Given the description of an element on the screen output the (x, y) to click on. 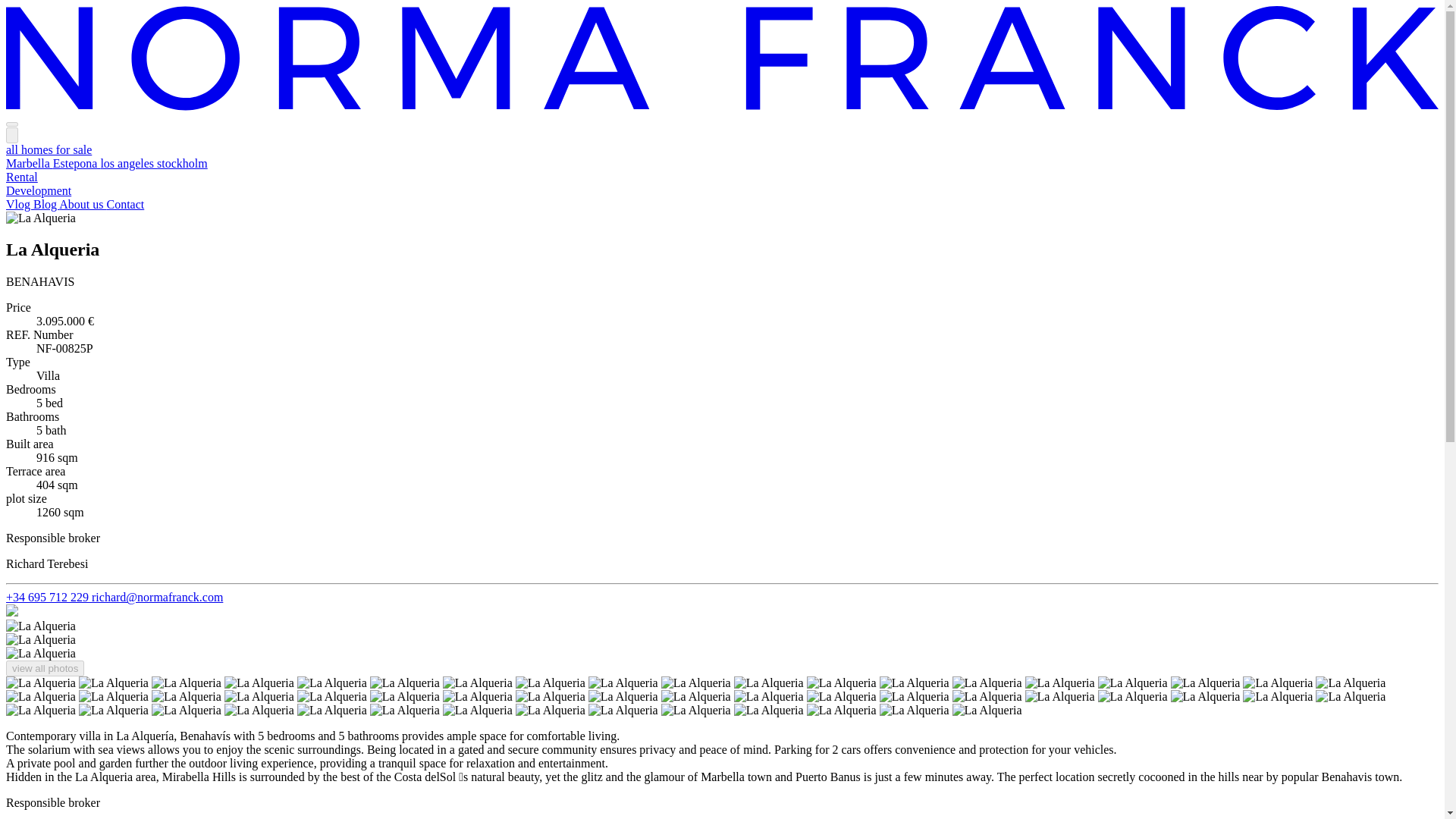
Estepona (76, 163)
all homes for sale (48, 149)
Rental (21, 176)
stockholm (182, 163)
Blog (46, 204)
Marbella (28, 163)
view all photos (44, 668)
Contact (125, 204)
About us (82, 204)
los angeles (128, 163)
Vlog (19, 204)
Development (38, 190)
